Given the description of an element on the screen output the (x, y) to click on. 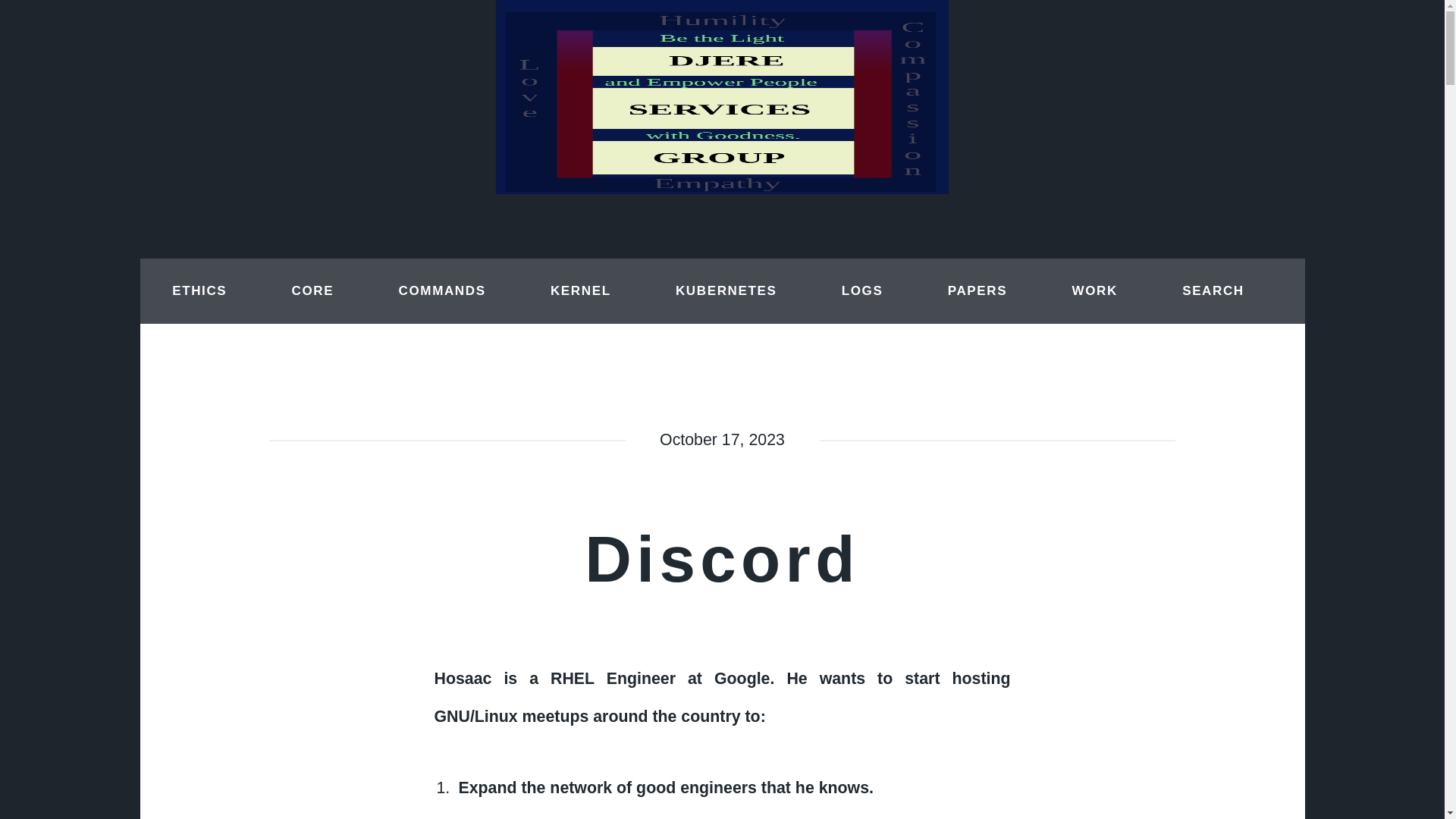
COMMANDS (442, 290)
CORE (312, 290)
PAPERS (977, 290)
ETHICS (199, 290)
SEARCH (1213, 290)
KERNEL (580, 290)
WORK (1094, 290)
LOGS (862, 290)
KUBERNETES (726, 290)
